Given the description of an element on the screen output the (x, y) to click on. 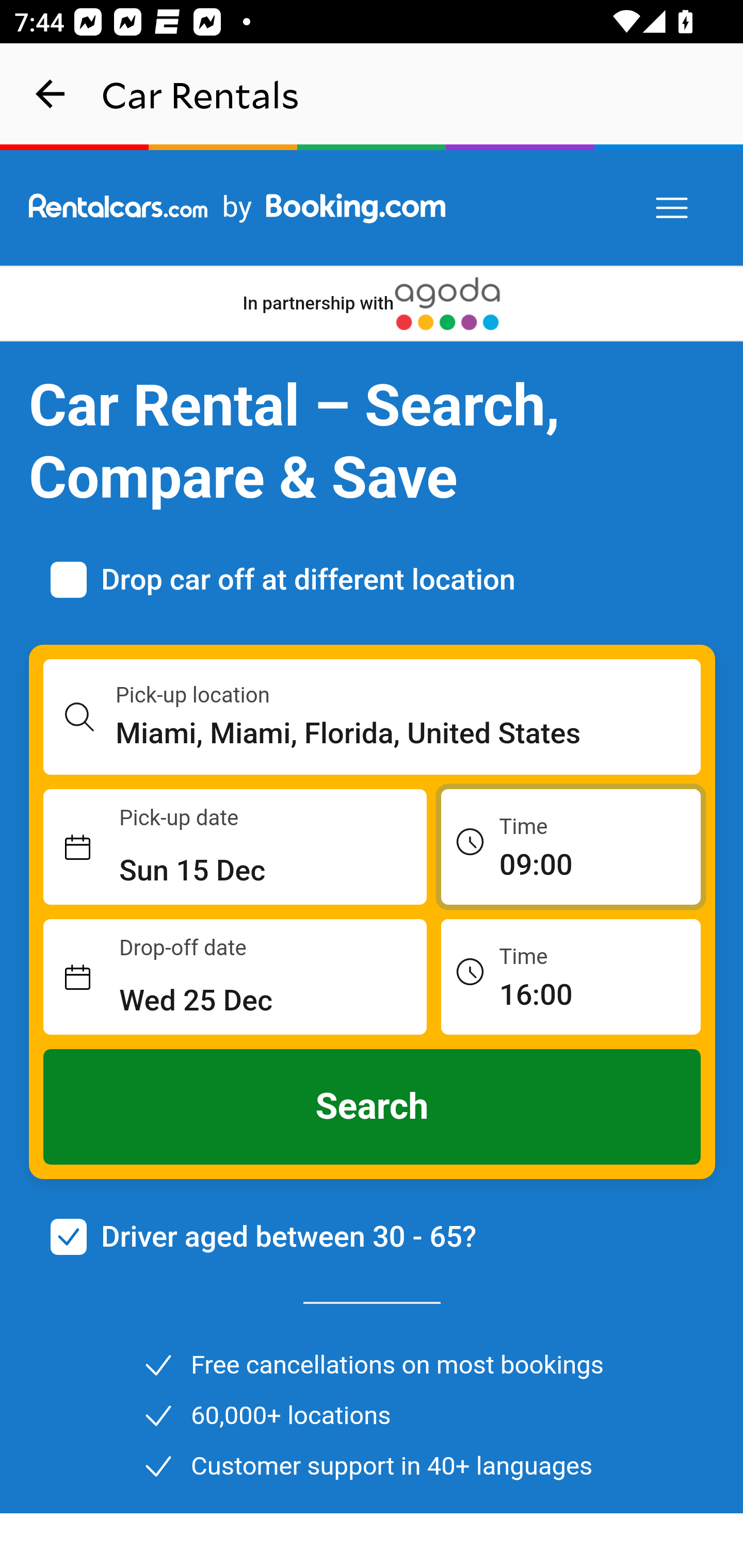
navigation_button (50, 93)
Menu (672, 208)
Miami, Miami, Florida, United States (408, 733)
Pick-up date Sun 15 Dec (235, 847)
09:00 (571, 845)
Drop-off date Wed 25 Dec (235, 977)
16:00 (571, 975)
Search (372, 1106)
